Given the description of an element on the screen output the (x, y) to click on. 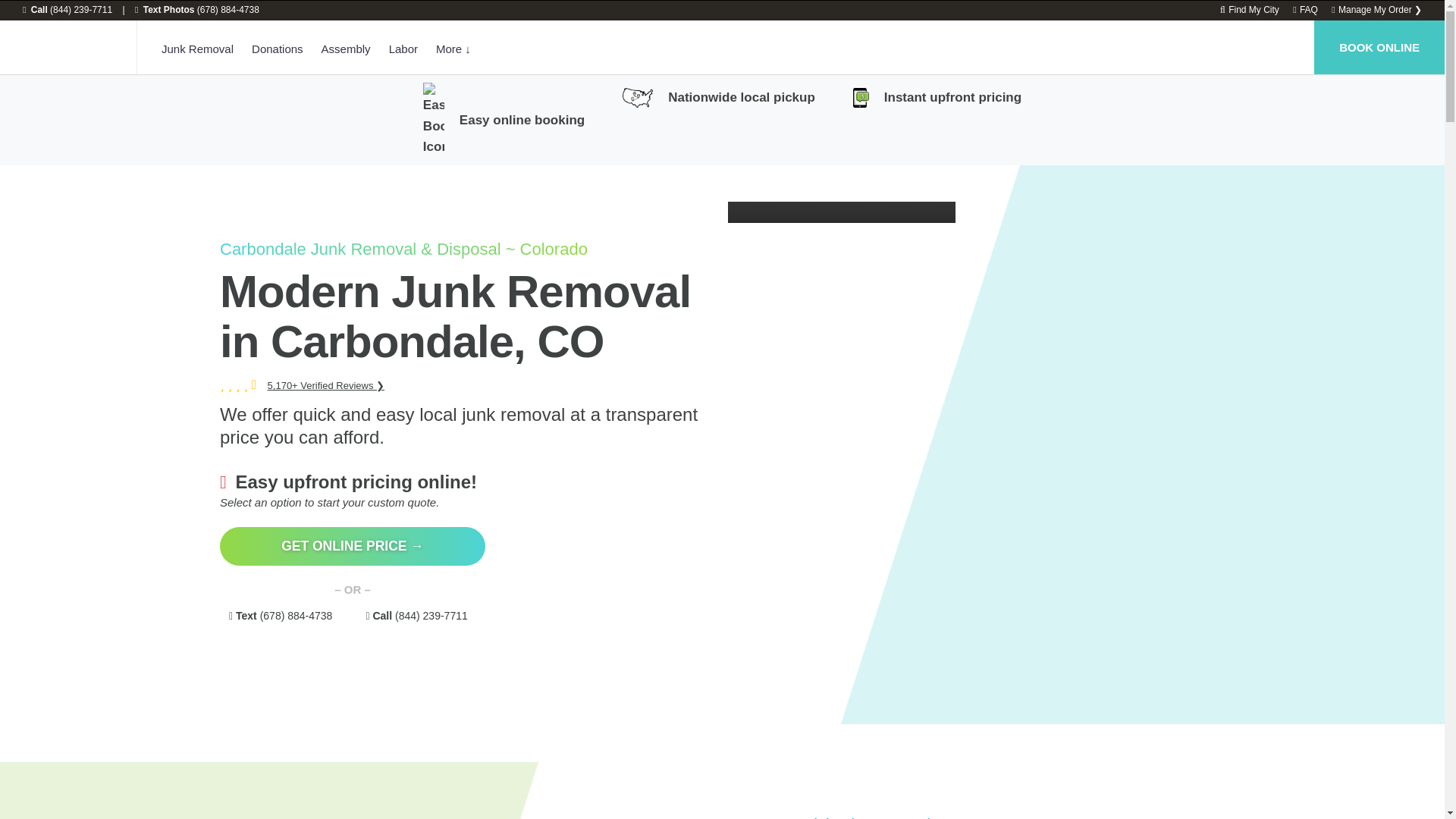
View LoadUp Customer Reviews (325, 385)
Tracking My Order (1377, 9)
Text LoadUp (197, 9)
Find My City (1249, 9)
Call LoadUp (67, 9)
Knowledge Base (1304, 9)
